Given the description of an element on the screen output the (x, y) to click on. 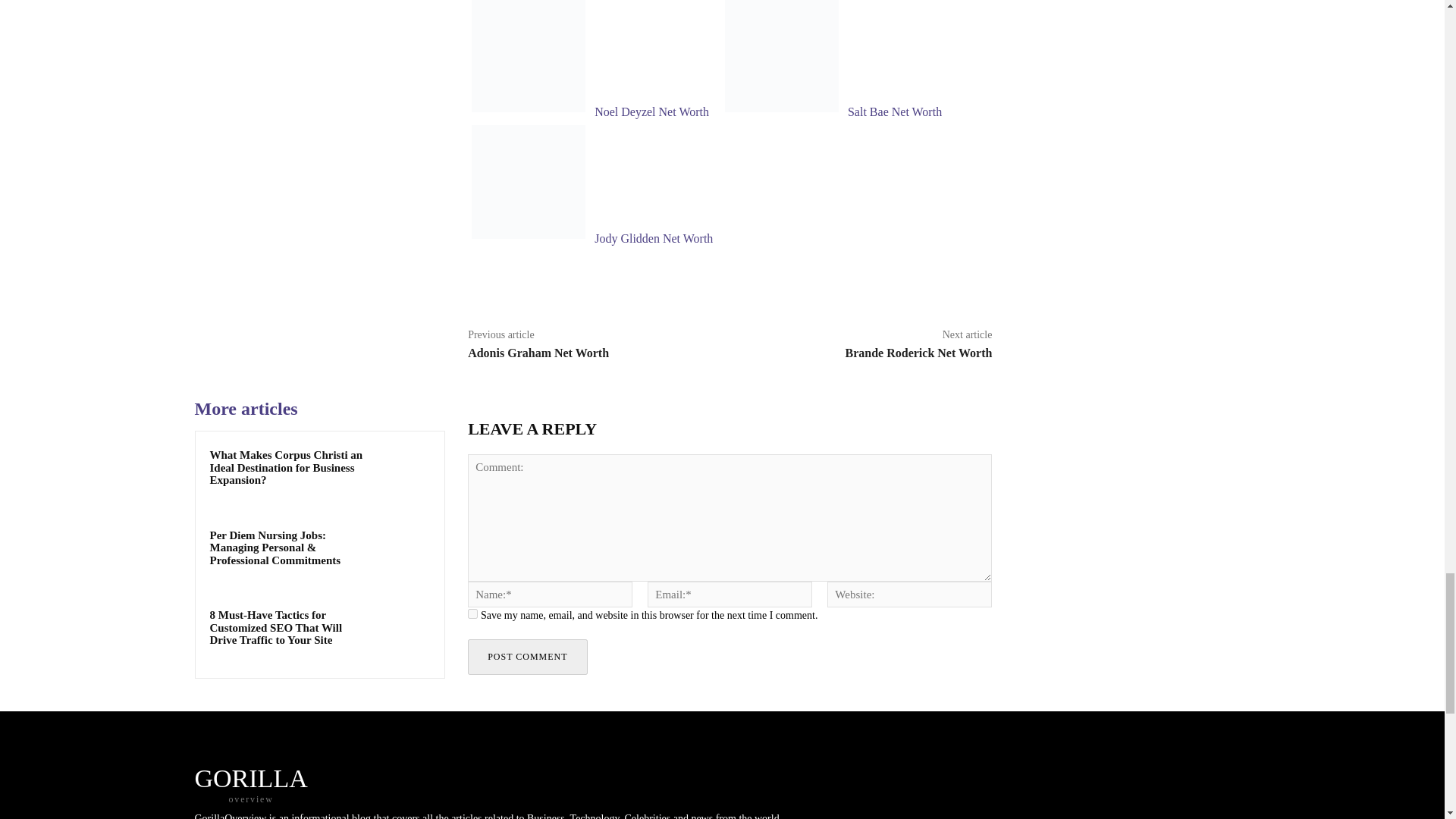
yes (472, 614)
Post Comment (526, 656)
